Given the description of an element on the screen output the (x, y) to click on. 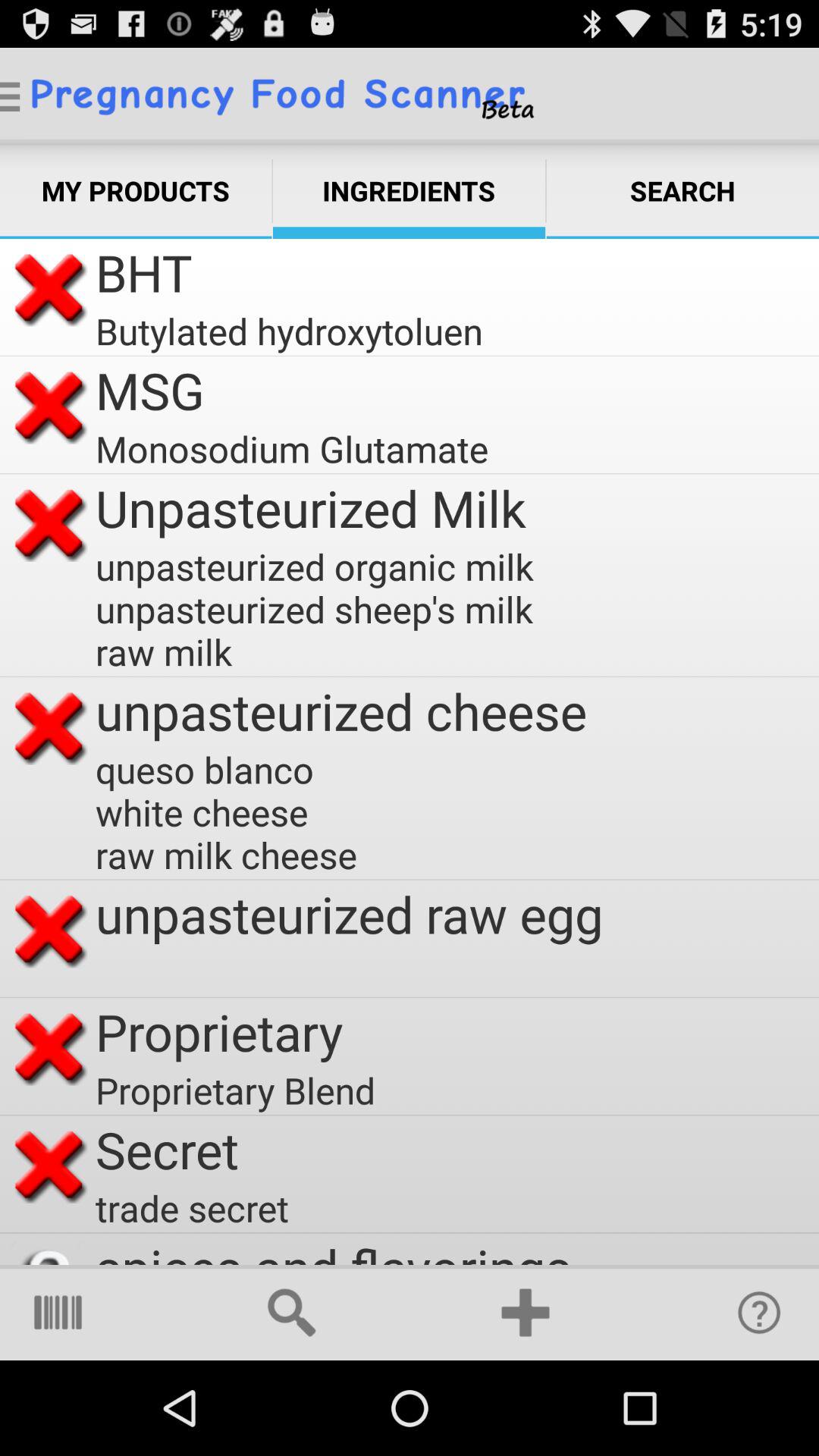
choose the item above the butylated hydroxytoluen (143, 272)
